Given the description of an element on the screen output the (x, y) to click on. 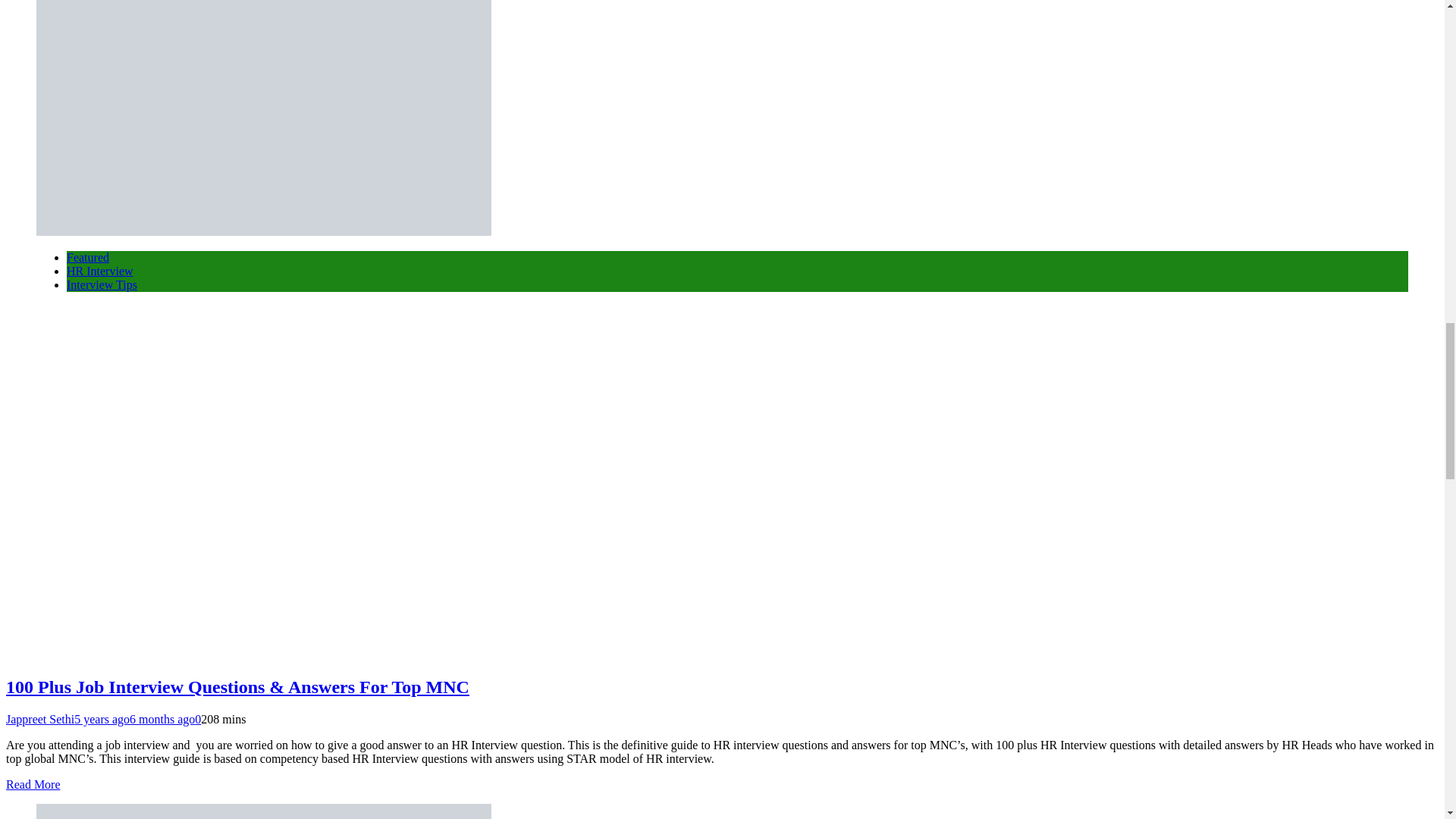
Interview Tips (101, 284)
HR Interview (99, 270)
Featured (87, 256)
